Given the description of an element on the screen output the (x, y) to click on. 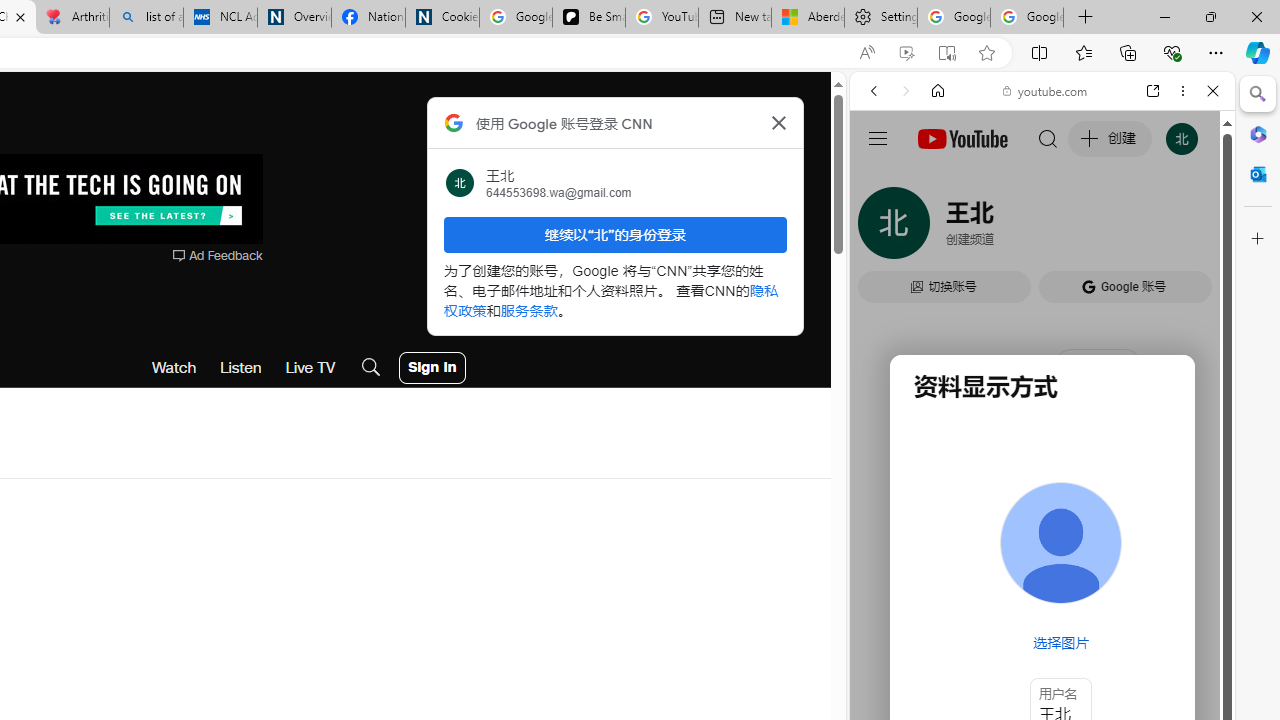
Show More Music (1164, 546)
Search Filter, Search Tools (1093, 228)
list of asthma inhalers uk - Search (146, 17)
#you (1042, 445)
Arthritis: Ask Health Professionals (71, 17)
Music (1042, 543)
